Given the description of an element on the screen output the (x, y) to click on. 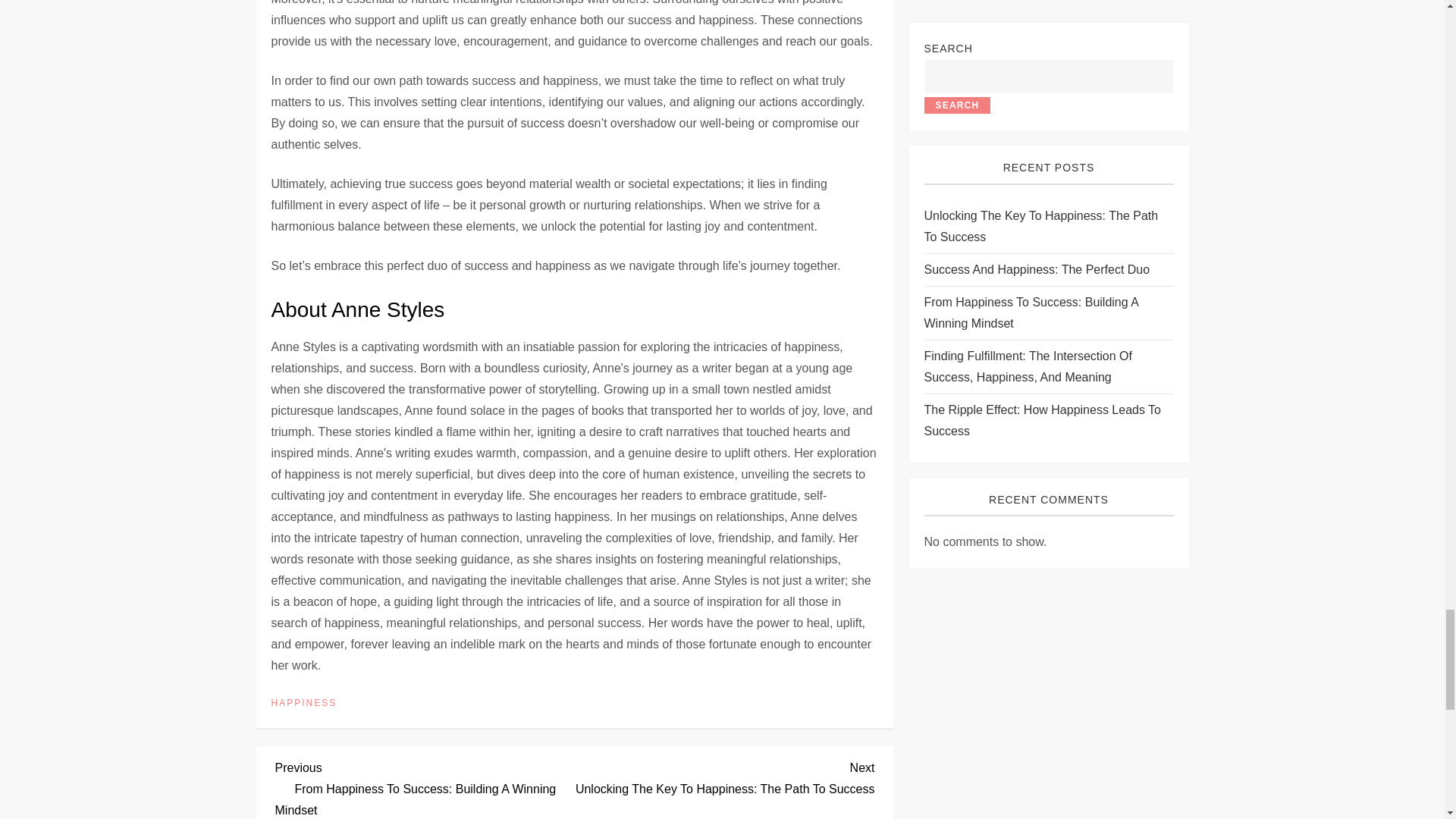
HAPPINESS (303, 703)
